Given the description of an element on the screen output the (x, y) to click on. 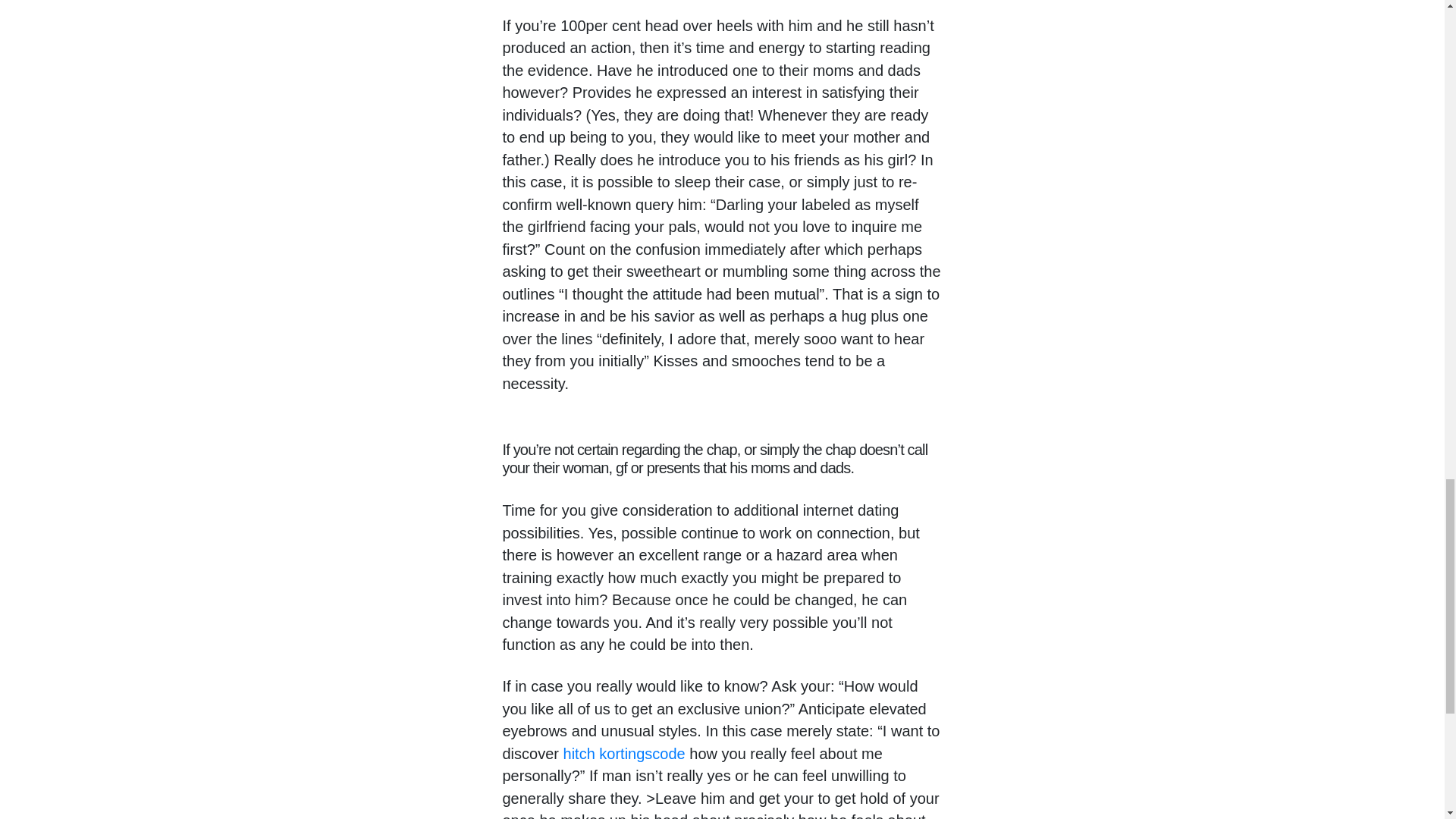
hitch kortingscode (624, 753)
